Given the description of an element on the screen output the (x, y) to click on. 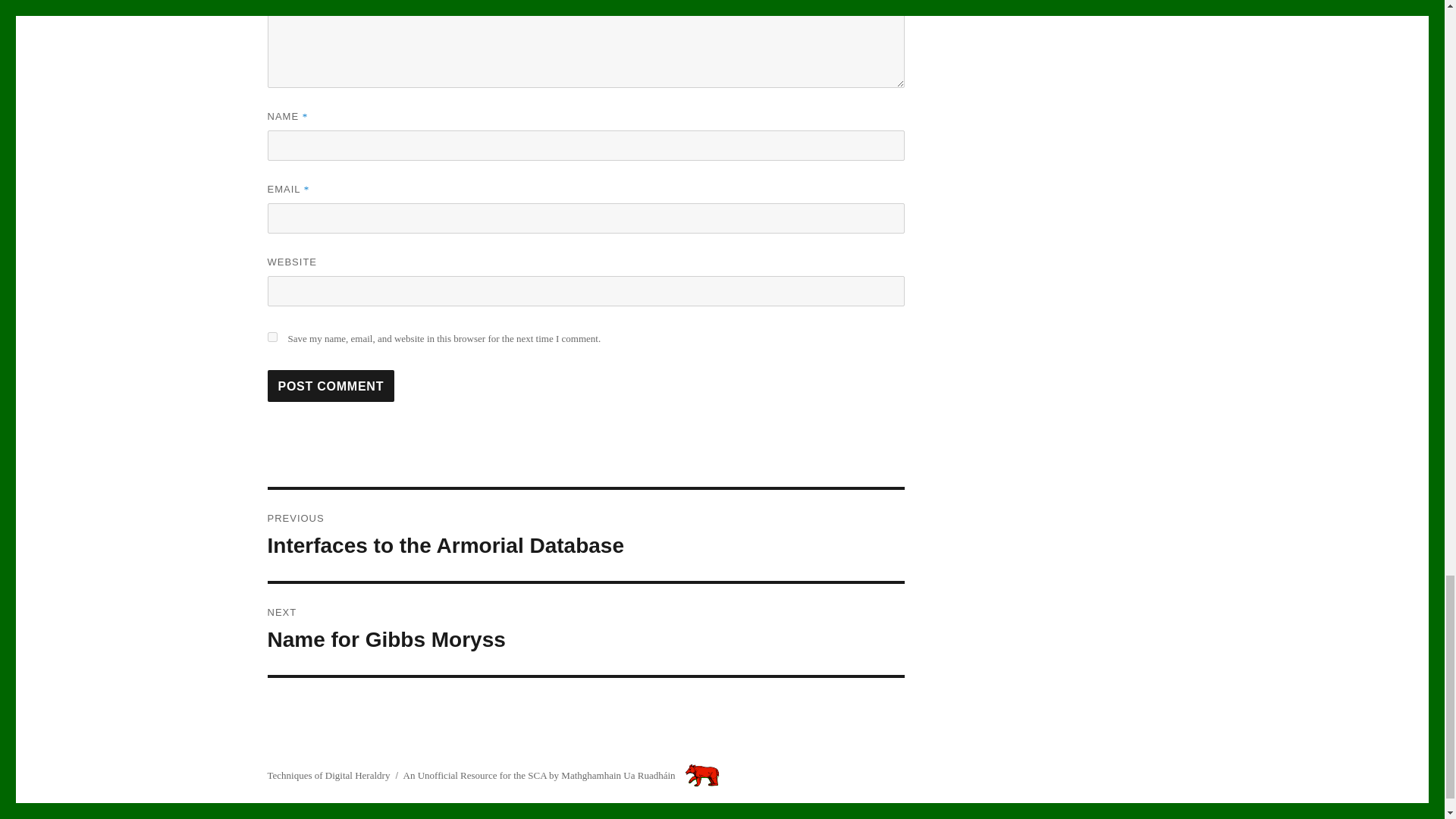
yes (585, 628)
Techniques of Digital Heraldry (271, 337)
Post Comment (328, 775)
Post Comment (330, 386)
